Given the description of an element on the screen output the (x, y) to click on. 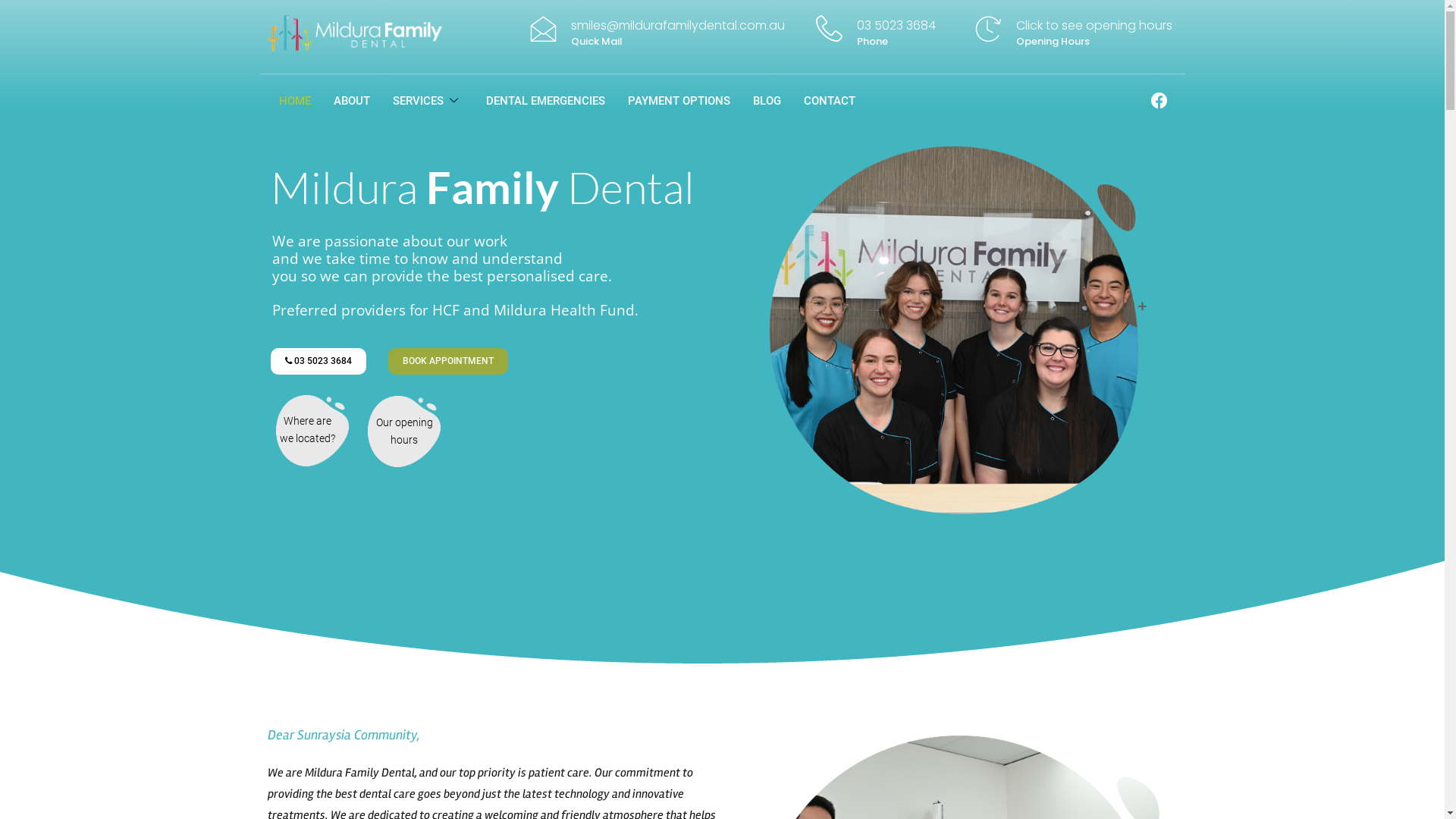
PAYMENT OPTIONS Element type: text (678, 100)
CONTACT Element type: text (829, 100)
Our opening hours Element type: text (404, 431)
03 5023 3684 Element type: text (895, 25)
BOOK APPOINTMENT Element type: text (448, 361)
03 5023 3684 Element type: text (318, 361)
smiles@mildurafamilydental.com.au Element type: text (677, 25)
Click to see opening hours Element type: text (1094, 25)
BLOG Element type: text (766, 100)
ABOUT Element type: text (350, 100)
DENTAL EMERGENCIES Element type: text (545, 100)
SERVICES Element type: text (426, 100)
HOME Element type: text (293, 100)
Preferred providers for HCF and Mildura Health Fund. Element type: text (457, 310)
Where are we located? Element type: text (307, 429)
